Given the description of an element on the screen output the (x, y) to click on. 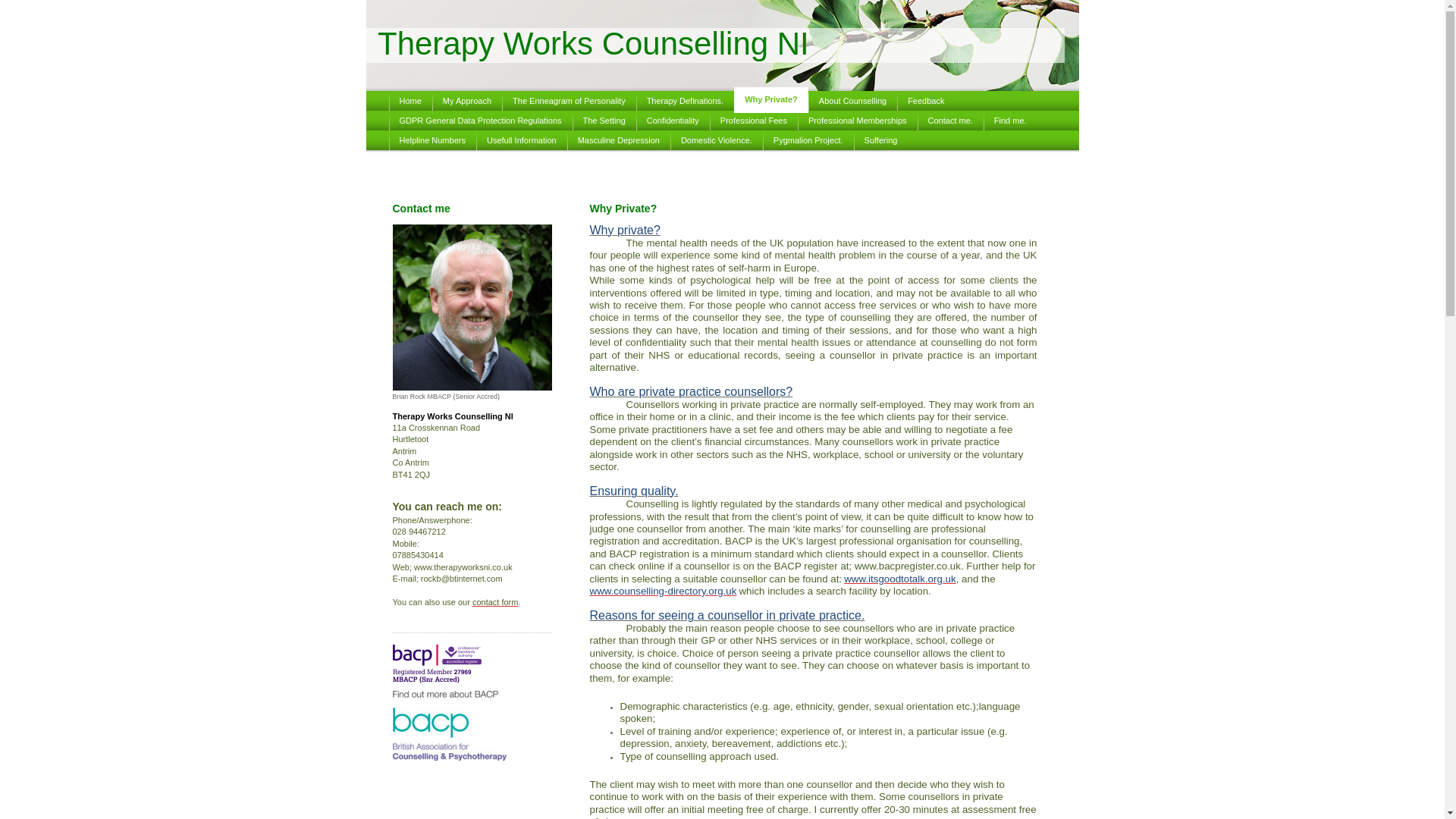
Domestic Violence. (715, 139)
About Counselling (852, 100)
My Approach (467, 100)
Professional Memberships (857, 120)
contact form (494, 601)
Why Private? (770, 99)
Suffering (880, 139)
Usefull Information (521, 139)
Feedback (925, 100)
Therapy Definations. (685, 100)
Masculine Depression (618, 139)
Contact me. (950, 120)
www.counselling-directory.org.uk (662, 591)
Helpline Numbers (432, 139)
Home (409, 100)
